Given the description of an element on the screen output the (x, y) to click on. 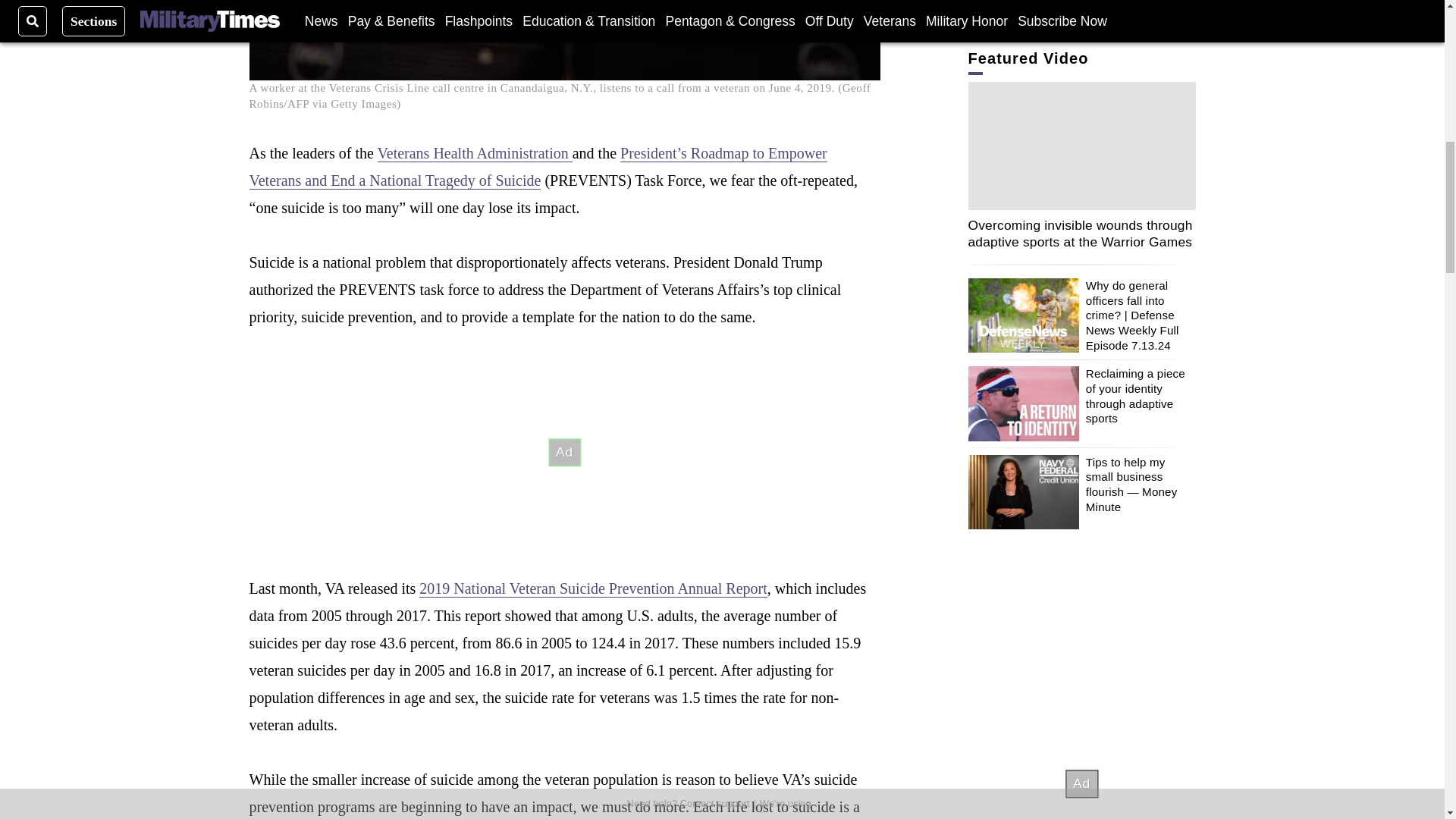
3rd party ad content (563, 452)
